Given the description of an element on the screen output the (x, y) to click on. 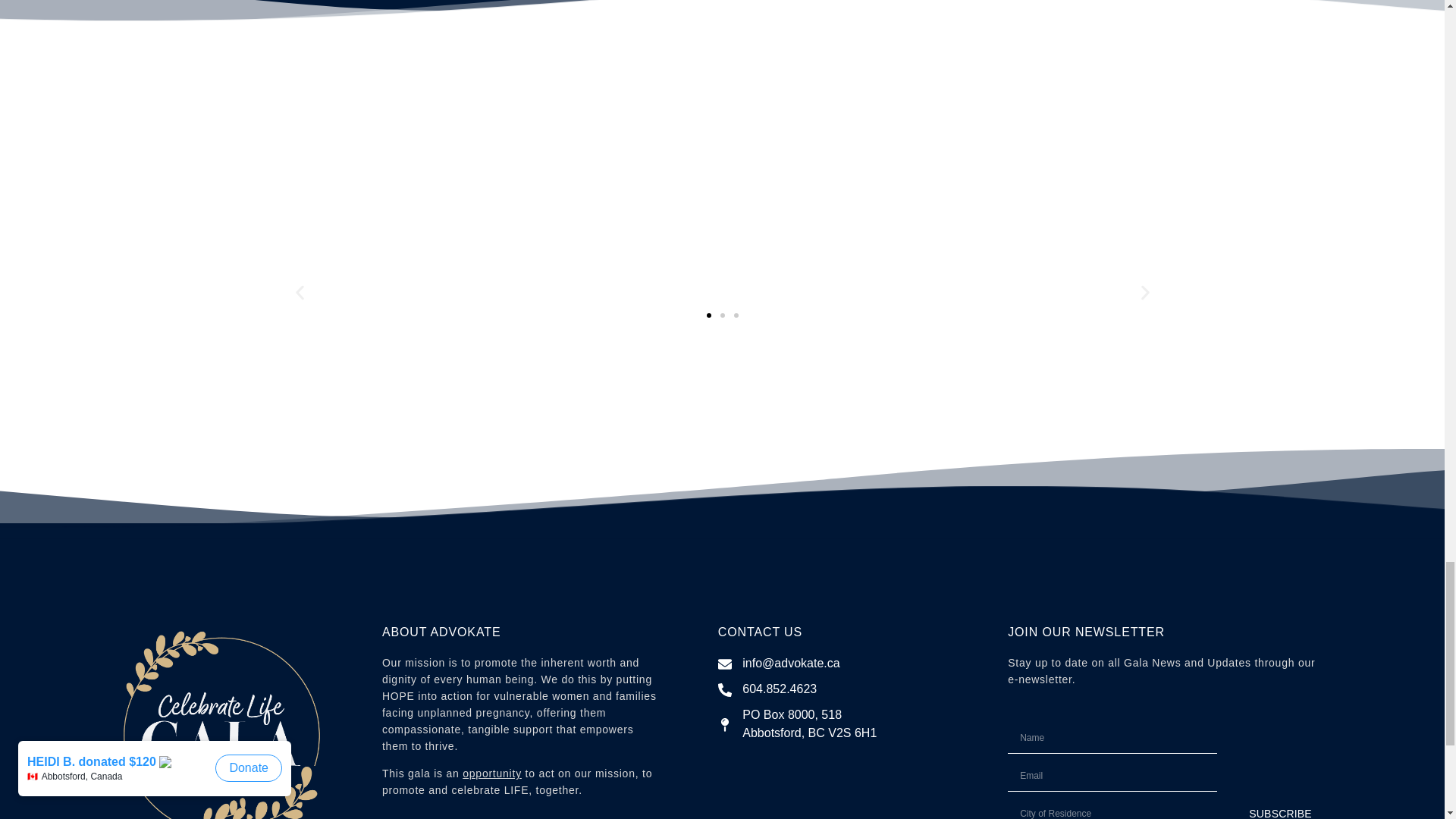
604.852.4623 (832, 689)
SUBSCRIBE (1280, 809)
